Given the description of an element on the screen output the (x, y) to click on. 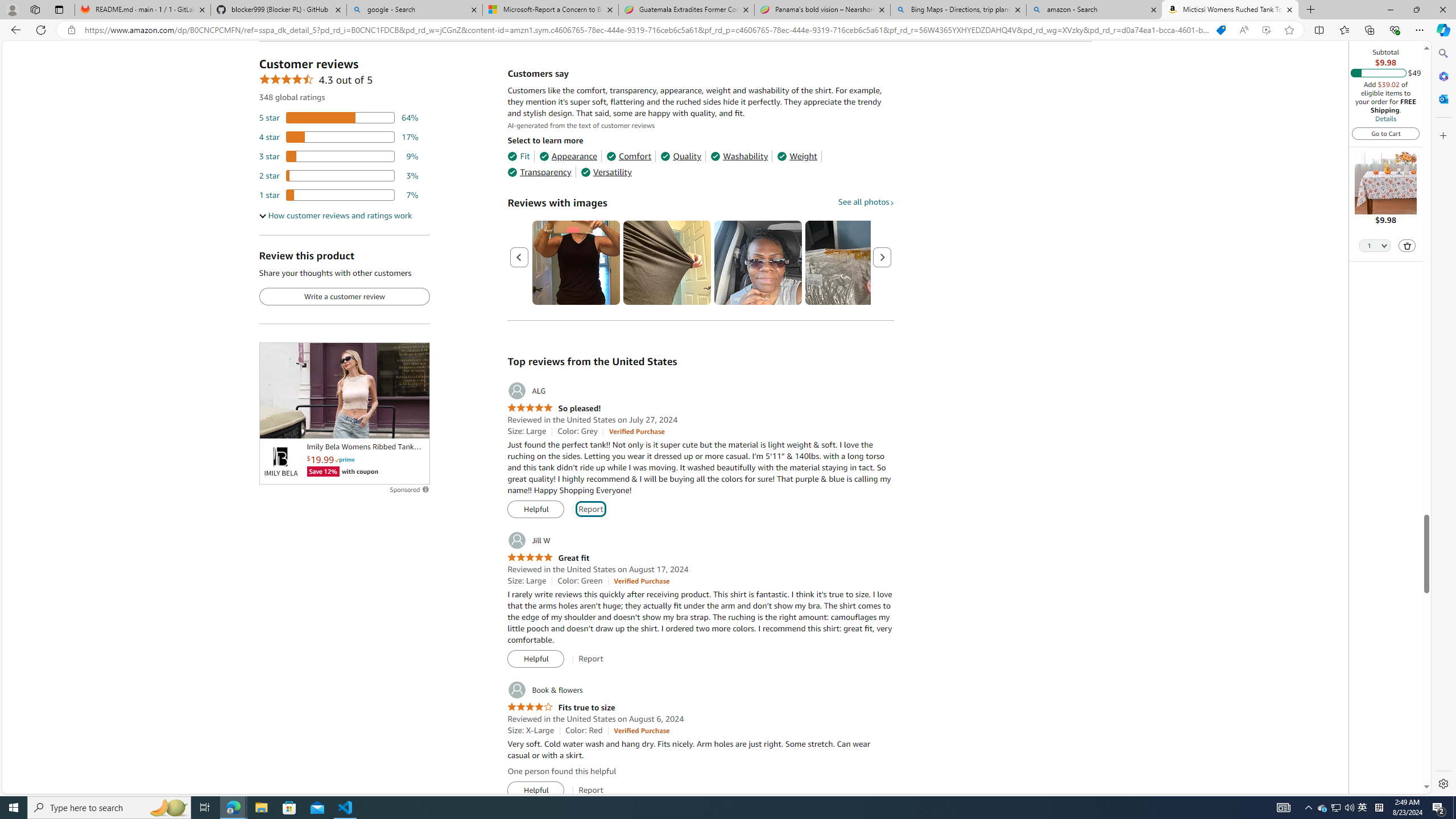
Weight (796, 156)
64 percent of reviews have 5 stars (339, 117)
17 percent of reviews have 4 stars (339, 137)
Prime (344, 459)
Fit (517, 156)
ALG (526, 390)
Verified Purchase (640, 730)
Comfort (628, 156)
Previous page (518, 256)
Transparency (539, 172)
